Given the description of an element on the screen output the (x, y) to click on. 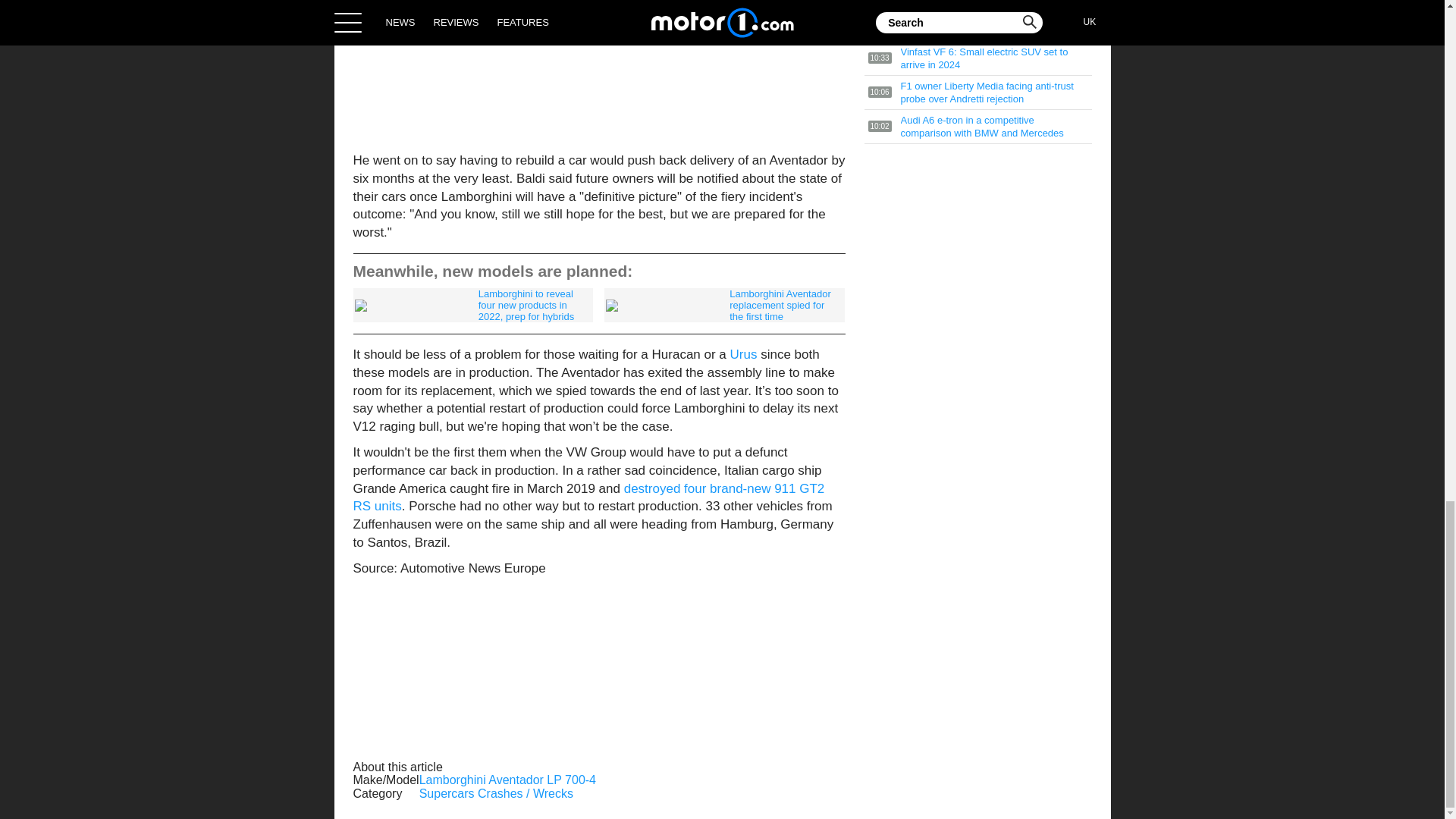
destroyed four brand-new 911 GT2 RS units (589, 497)
Urus (743, 354)
Lamborghini Aventador replacement spied for the first time (724, 305)
